Given the description of an element on the screen output the (x, y) to click on. 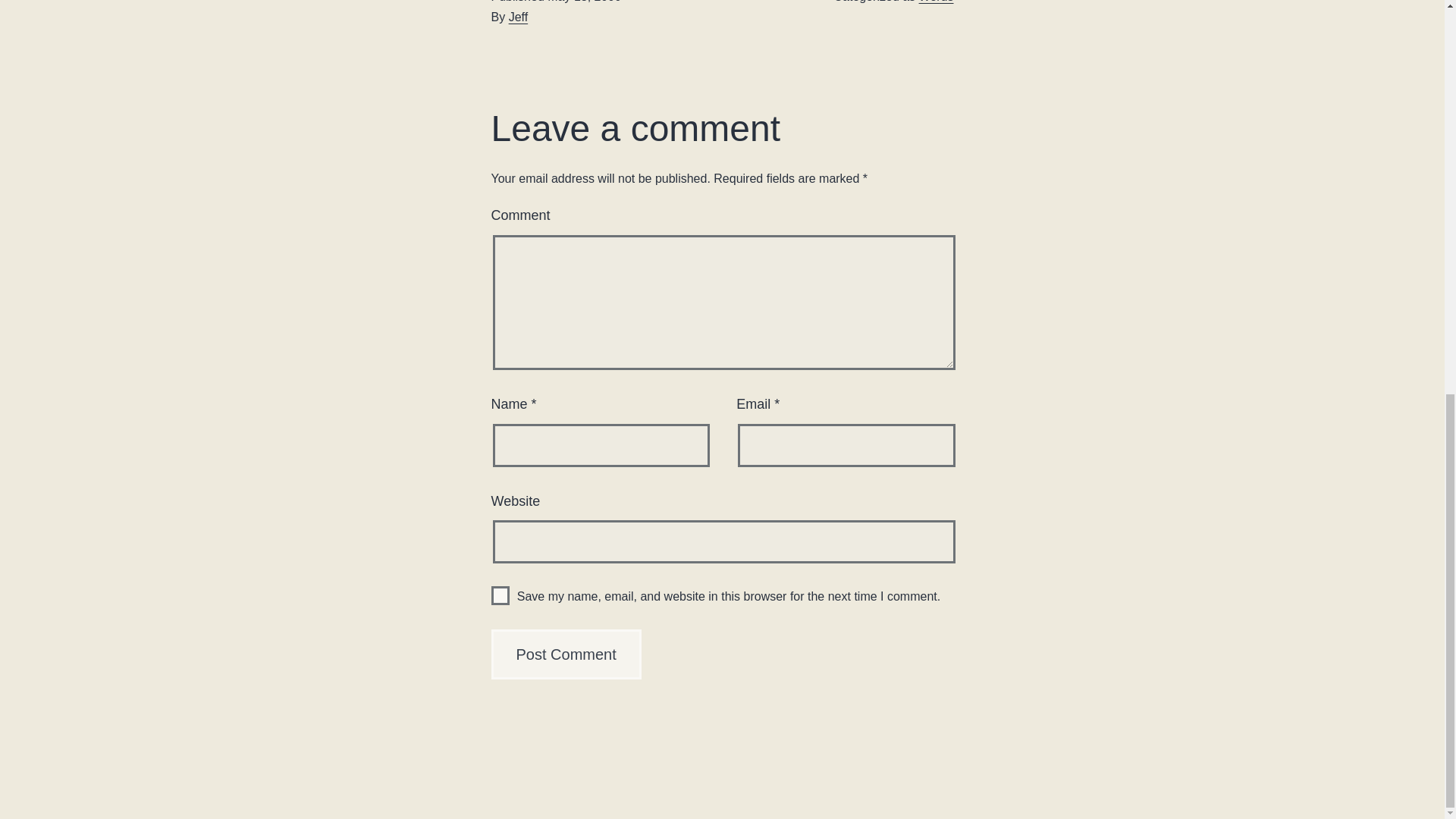
Post Comment (567, 654)
Jeff (518, 16)
yes (500, 595)
Post Comment (567, 654)
Words (935, 1)
